Given the description of an element on the screen output the (x, y) to click on. 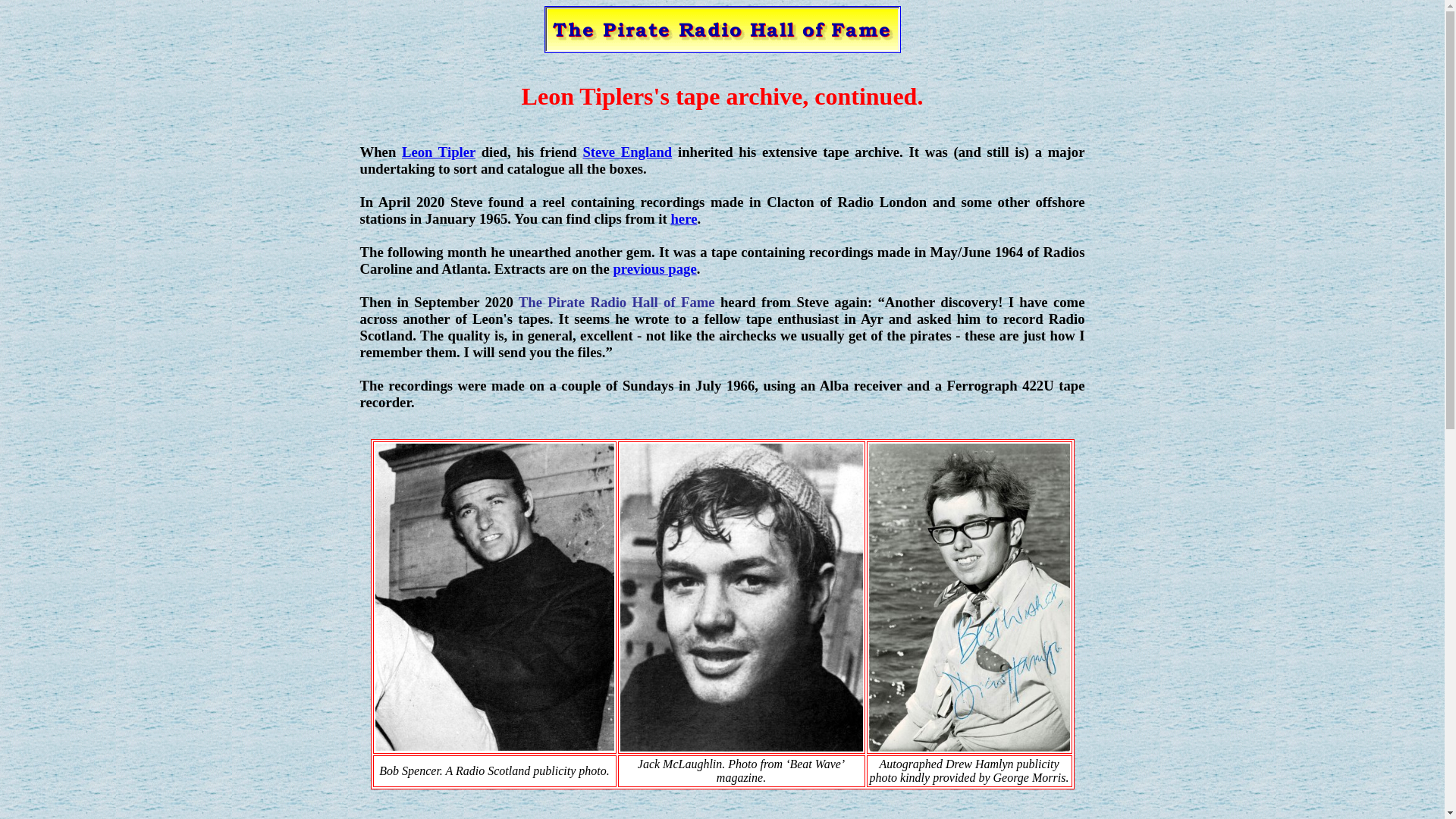
Leon Tipler (438, 151)
Steve England (626, 151)
here (683, 218)
previous page (653, 268)
